Given the description of an element on the screen output the (x, y) to click on. 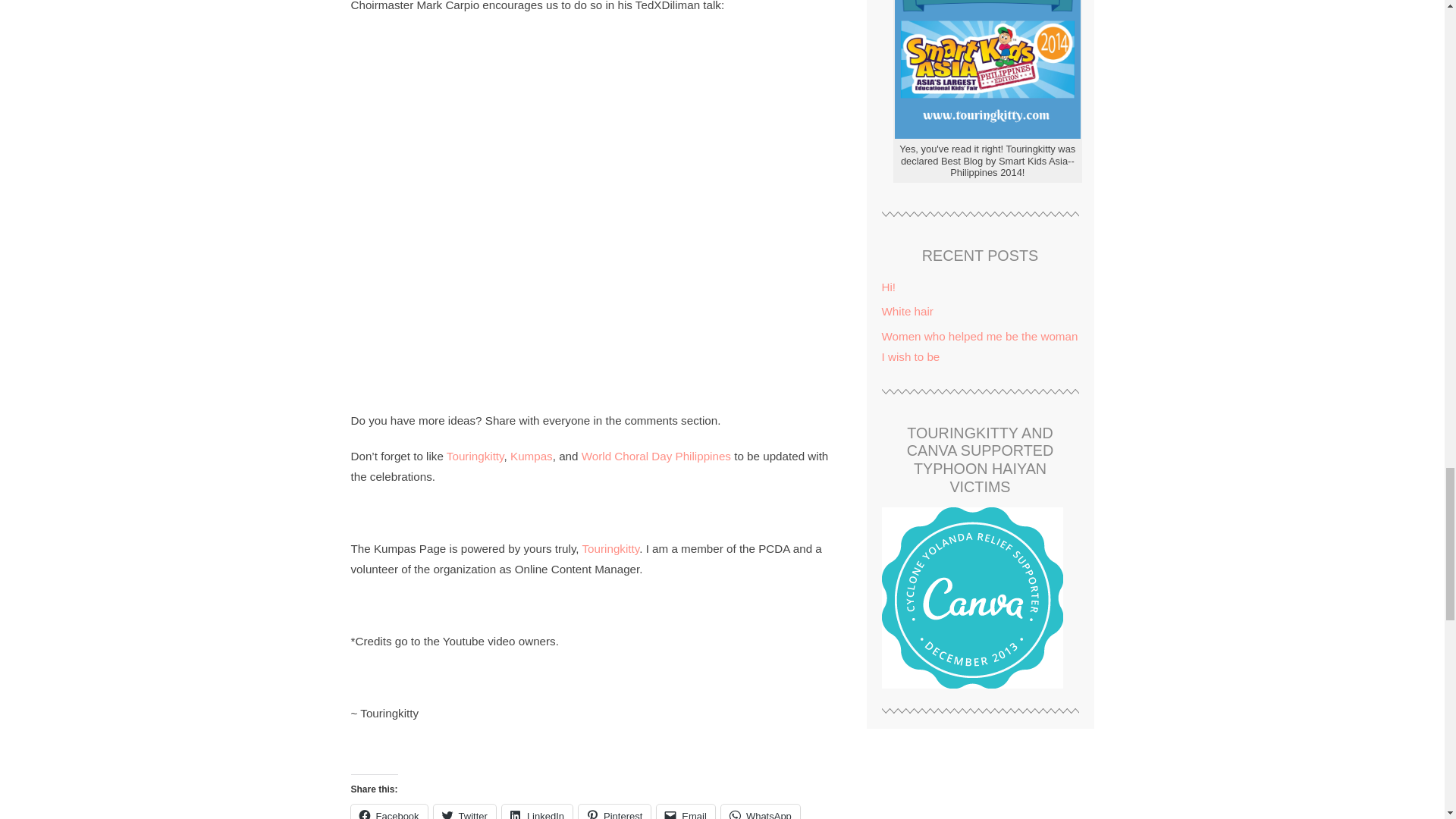
Pinterest (614, 811)
Touringkitty (611, 548)
Click to share on Pinterest (614, 811)
Click to share on Twitter (464, 811)
Facebook (388, 811)
Click to share on WhatsApp (759, 811)
Click to email a link to a friend (685, 811)
Click to share on Facebook (388, 811)
Click to share on LinkedIn (537, 811)
Touringkitty (474, 455)
